Given the description of an element on the screen output the (x, y) to click on. 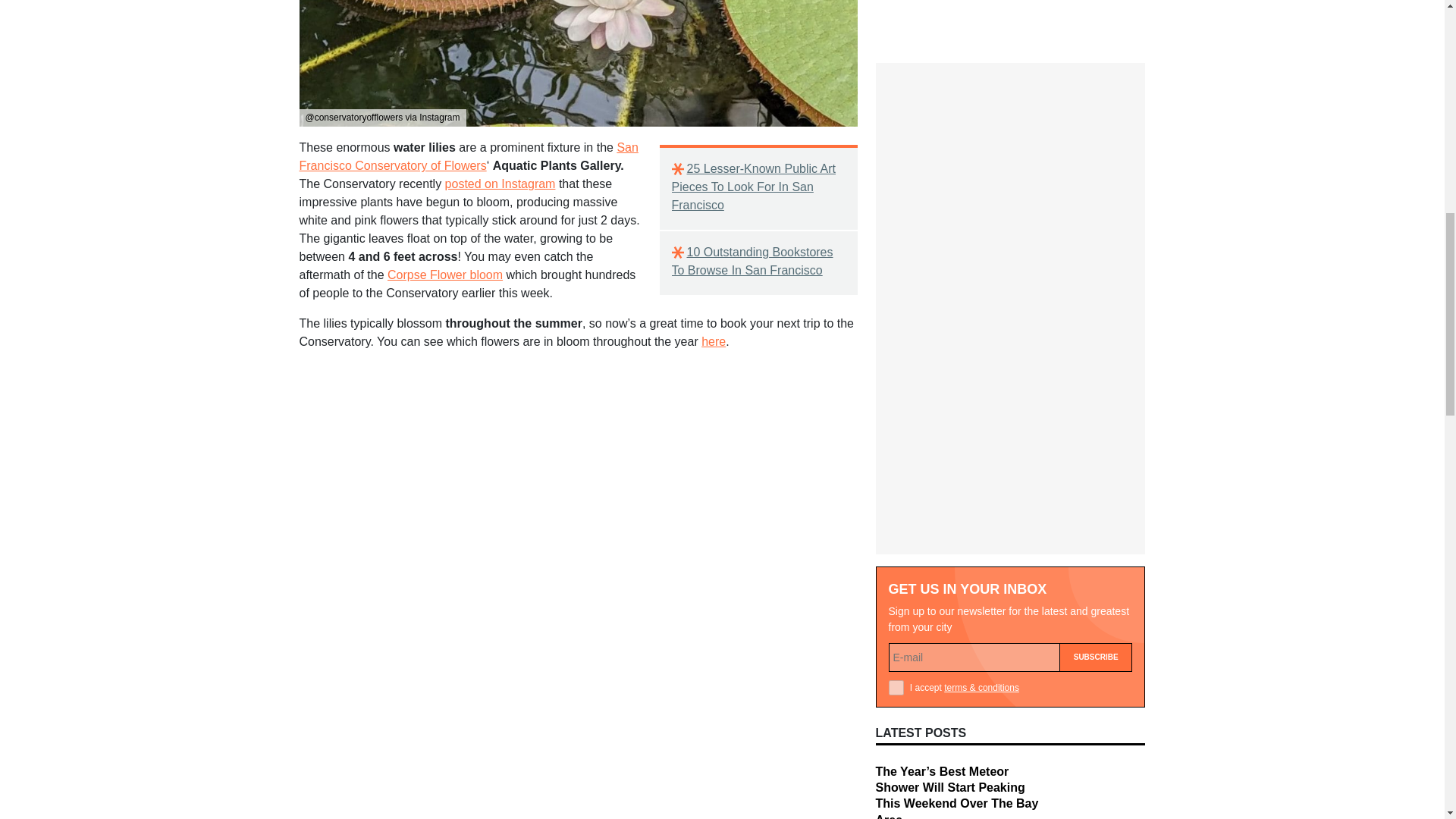
Subscribe (1095, 354)
Subscribe (1095, 354)
JULY 31, 2024 (904, 642)
Corpse Flower bloom (444, 274)
AUGUST 8, 2024 (910, 542)
1 (896, 385)
here (713, 341)
10 Outstanding Bookstores To Browse In San Francisco (758, 261)
